Given the description of an element on the screen output the (x, y) to click on. 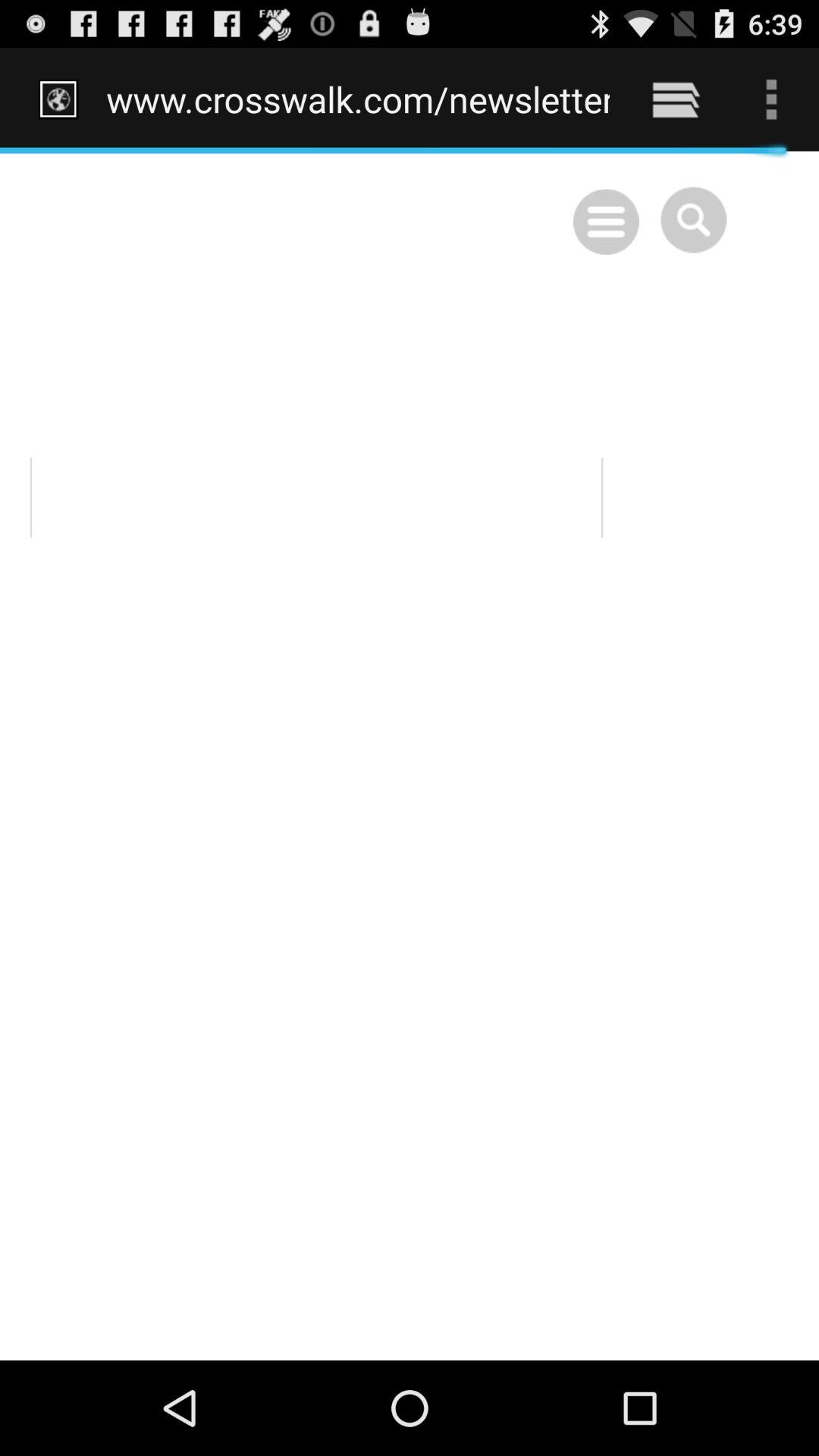
select item next to the www crosswalk com icon (675, 99)
